Given the description of an element on the screen output the (x, y) to click on. 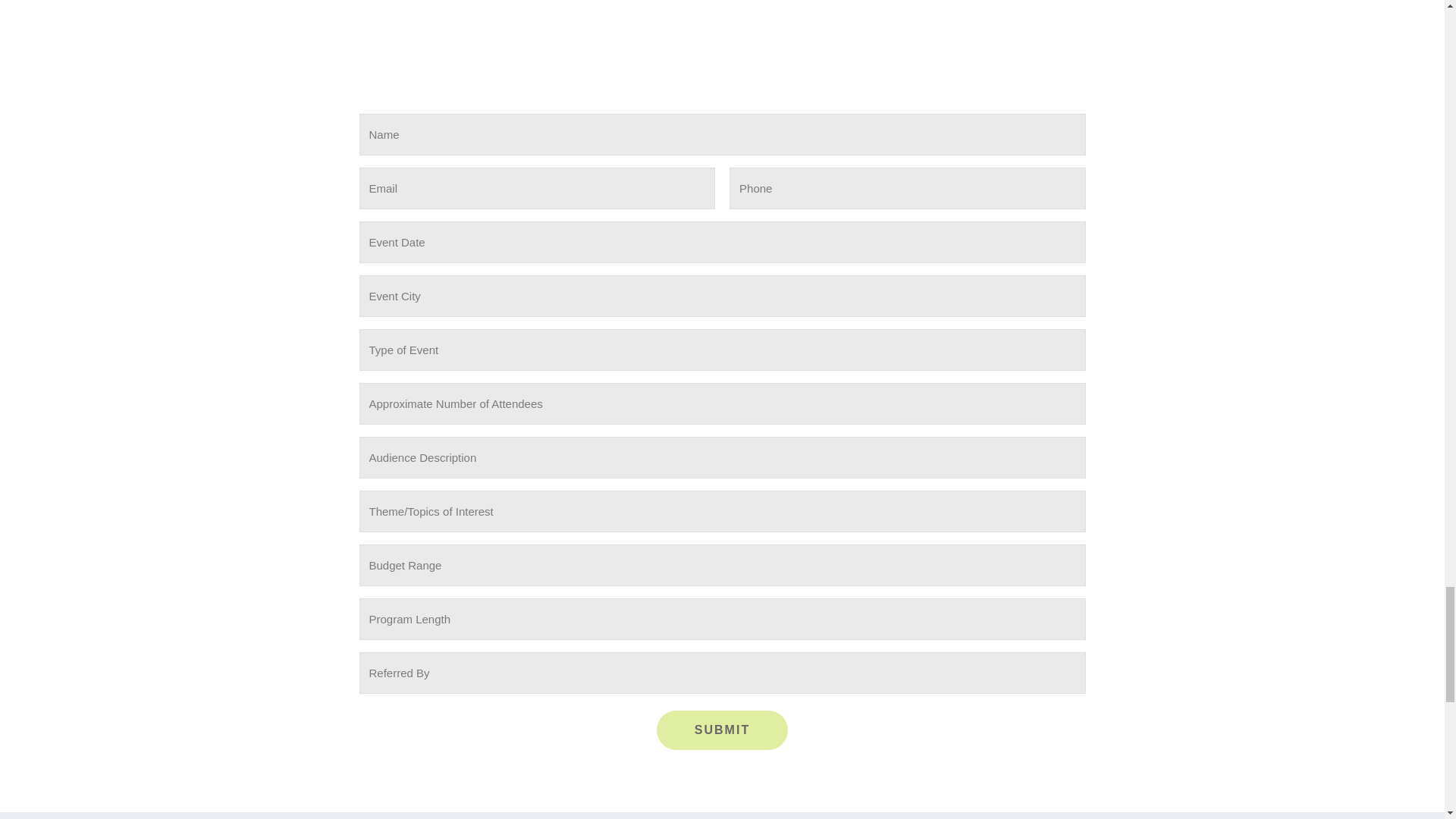
Submit (721, 730)
Submit (721, 730)
